Given the description of an element on the screen output the (x, y) to click on. 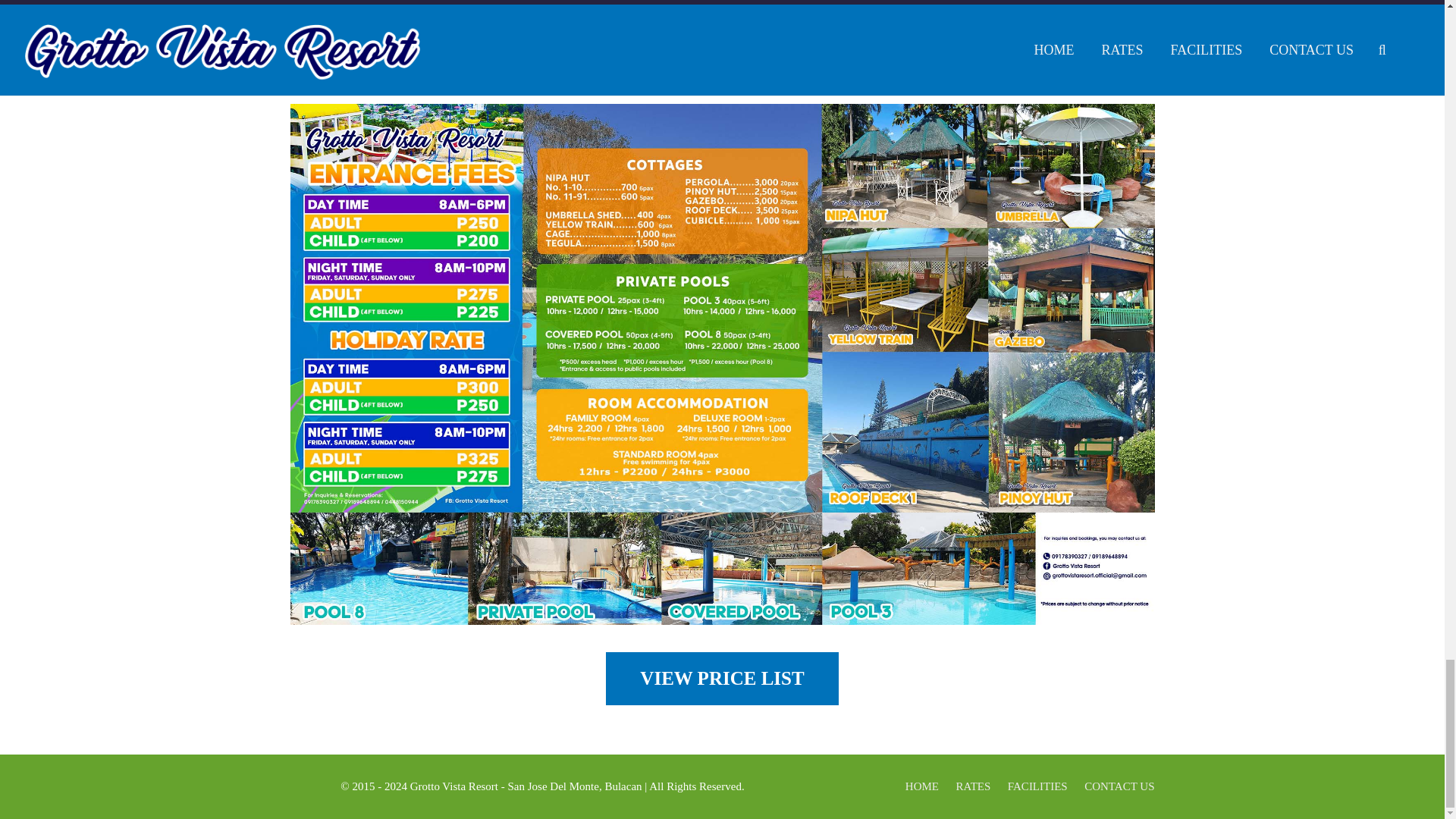
FACILITIES (1037, 786)
CONTACT US (1119, 786)
RATES (972, 786)
Rates (721, 678)
HOME (922, 786)
VIEW PRICE LIST (721, 678)
